Given the description of an element on the screen output the (x, y) to click on. 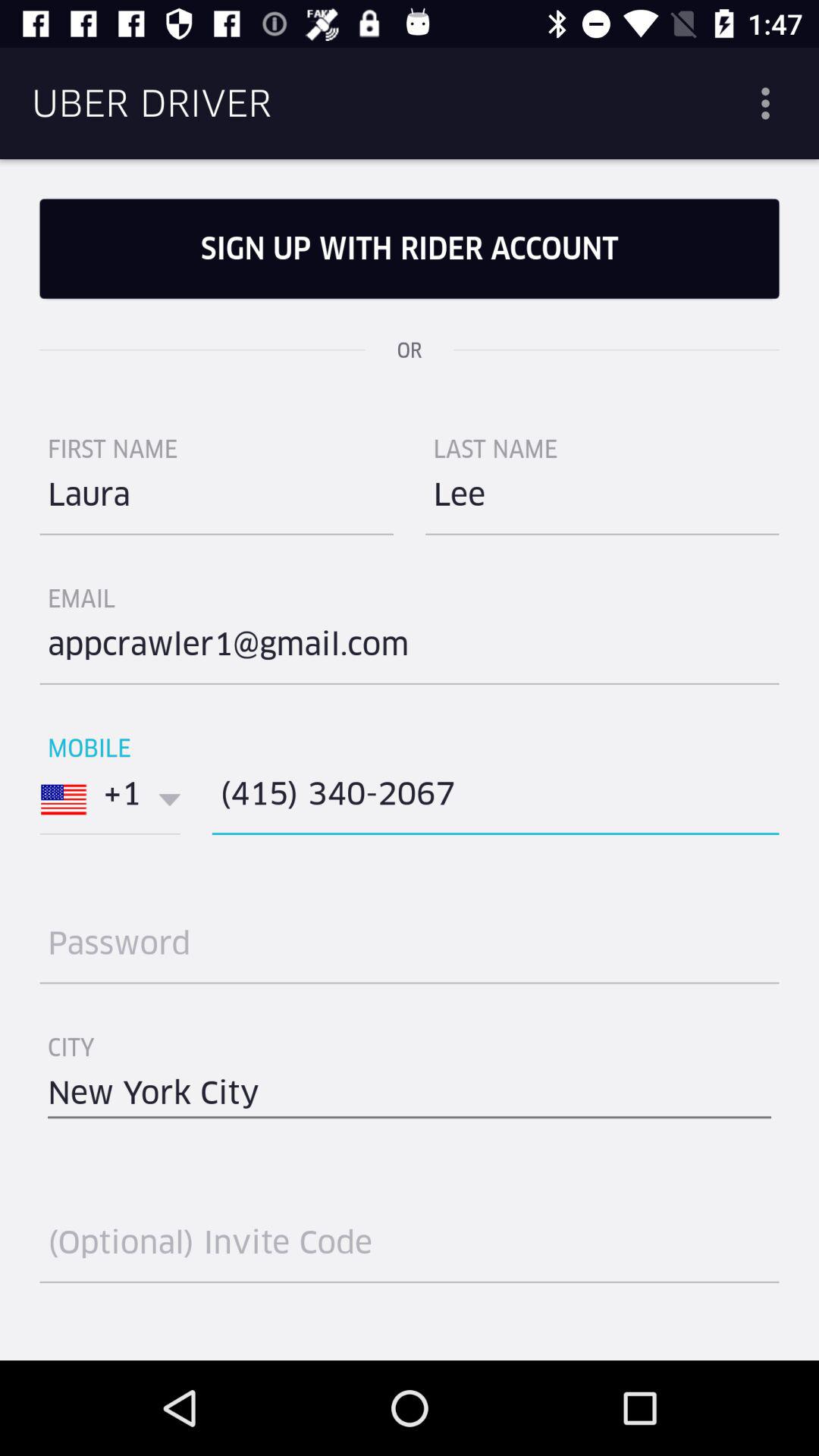
press the item to the left of last name (216, 500)
